Given the description of an element on the screen output the (x, y) to click on. 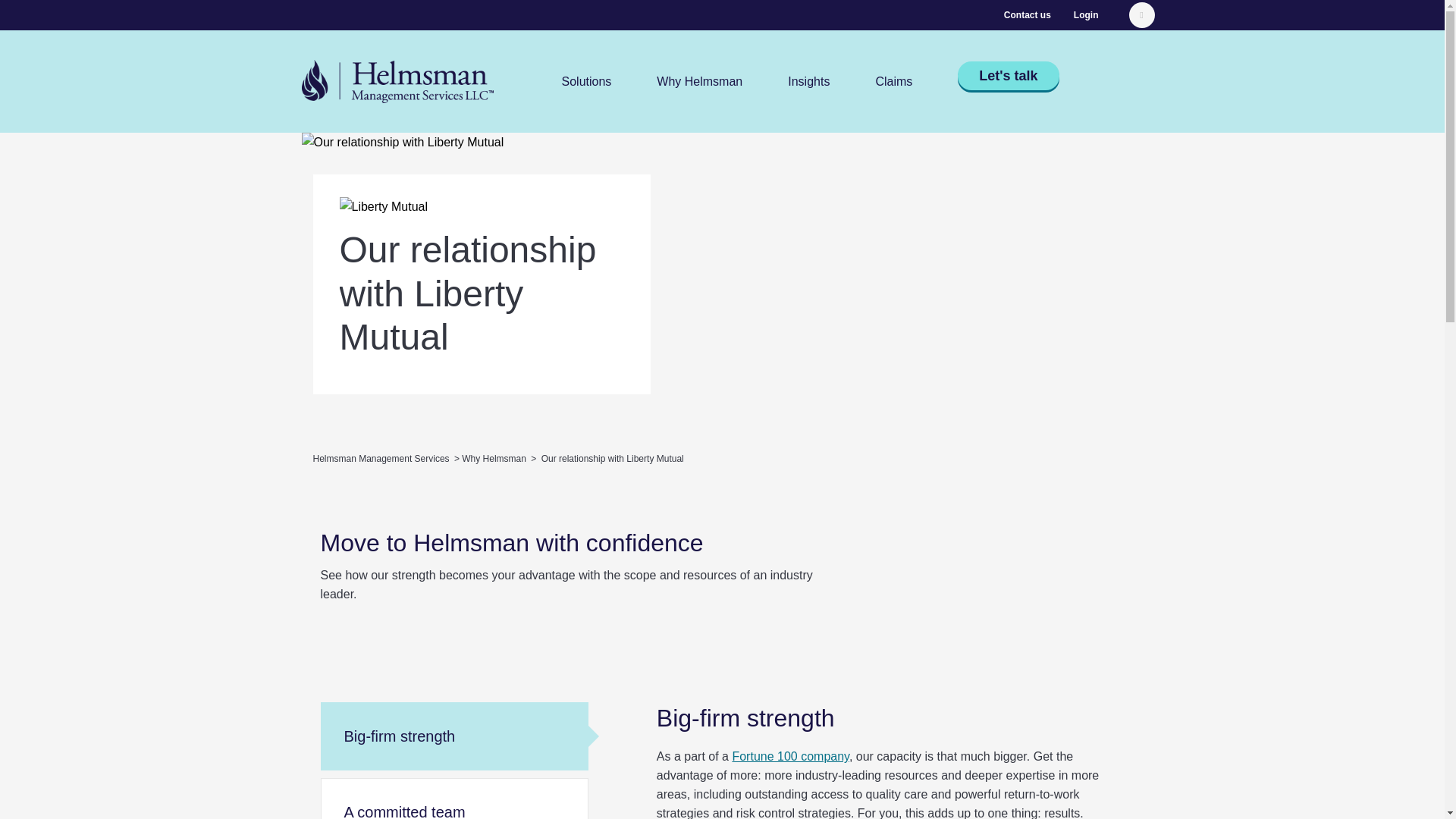
Contact us (1027, 14)
Let's talk (1008, 74)
Why Helmsman (699, 81)
Login (1085, 14)
Claims (892, 81)
Submit (1141, 14)
Insights (808, 81)
Solutions (585, 81)
